Given the description of an element on the screen output the (x, y) to click on. 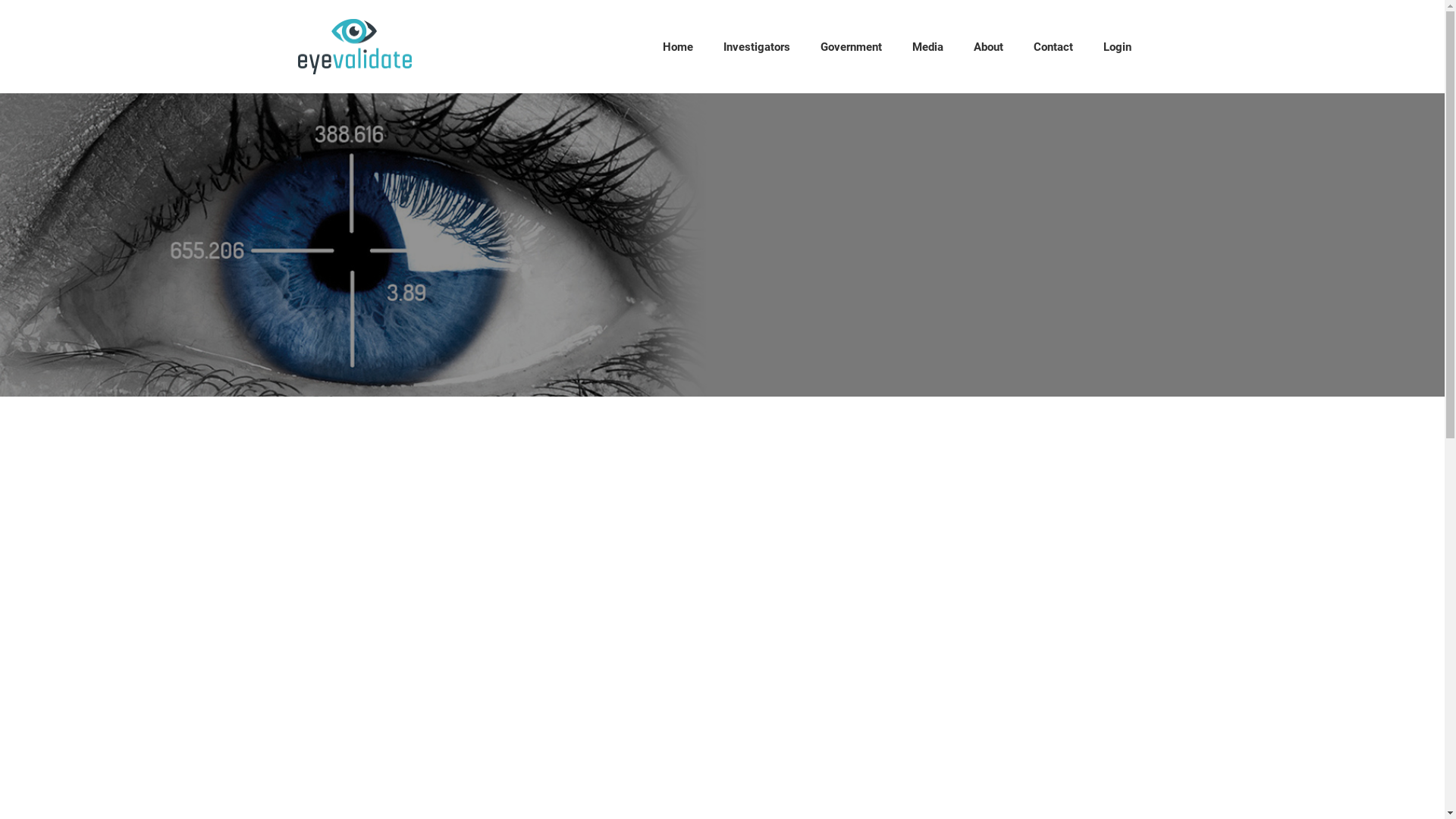
Government Element type: text (851, 46)
Login Element type: text (1117, 46)
About Element type: text (988, 46)
Search Element type: text (1357, 132)
Investigators Element type: text (756, 46)
Media Element type: text (927, 46)
Contact Element type: text (1053, 46)
Home Element type: text (677, 46)
